Given the description of an element on the screen output the (x, y) to click on. 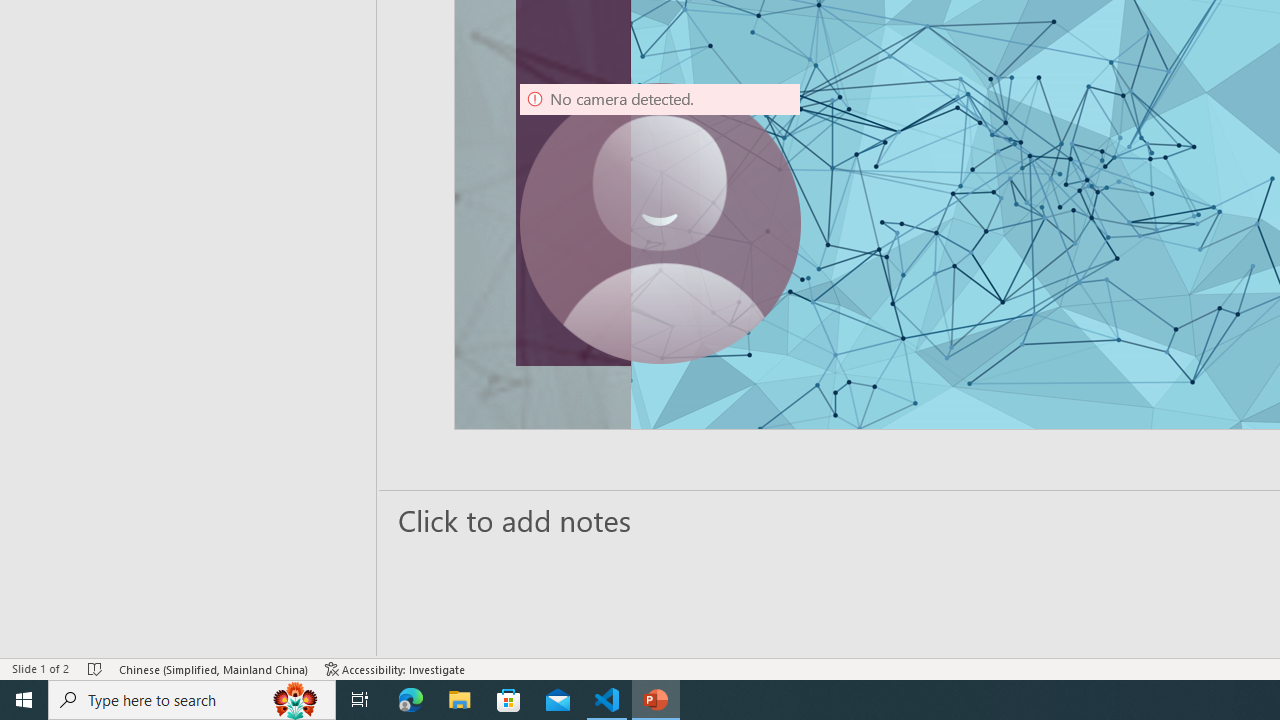
Camera 9, No camera detected. (660, 223)
